Given the description of an element on the screen output the (x, y) to click on. 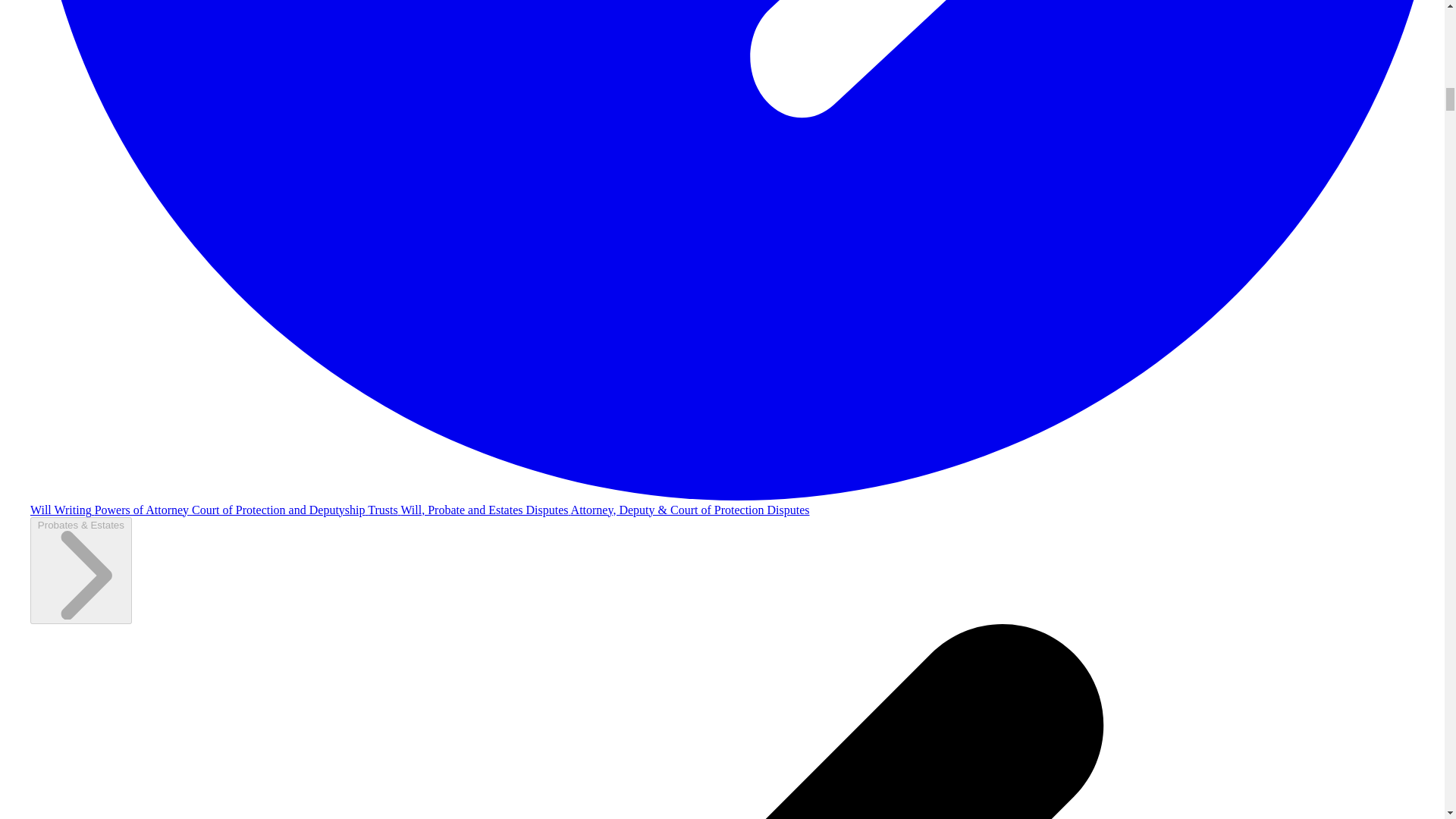
Trusts (384, 509)
Powers of Attorney (143, 509)
Court of Protection and Deputyship (280, 509)
Will, Probate and Estates Disputes (485, 509)
Will Writing (62, 509)
